Given the description of an element on the screen output the (x, y) to click on. 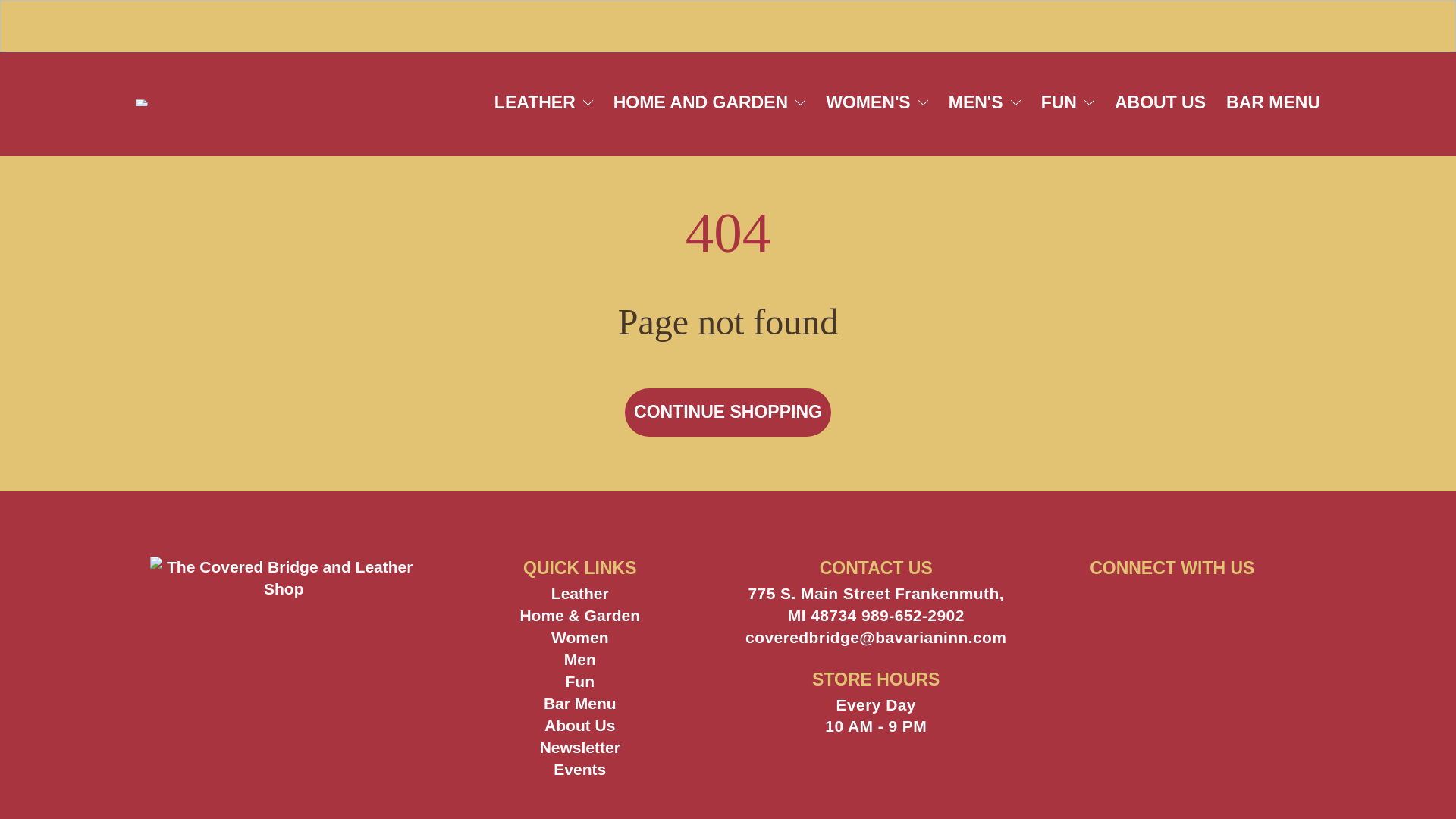
Cart (1387, 26)
Search (1309, 26)
Sign in (1348, 26)
Cart (1387, 26)
THE COVERED BRIDGE AND LEATHER SHOP (141, 103)
LEATHER (543, 102)
SKIP TO CONTENT (102, 23)
